Given the description of an element on the screen output the (x, y) to click on. 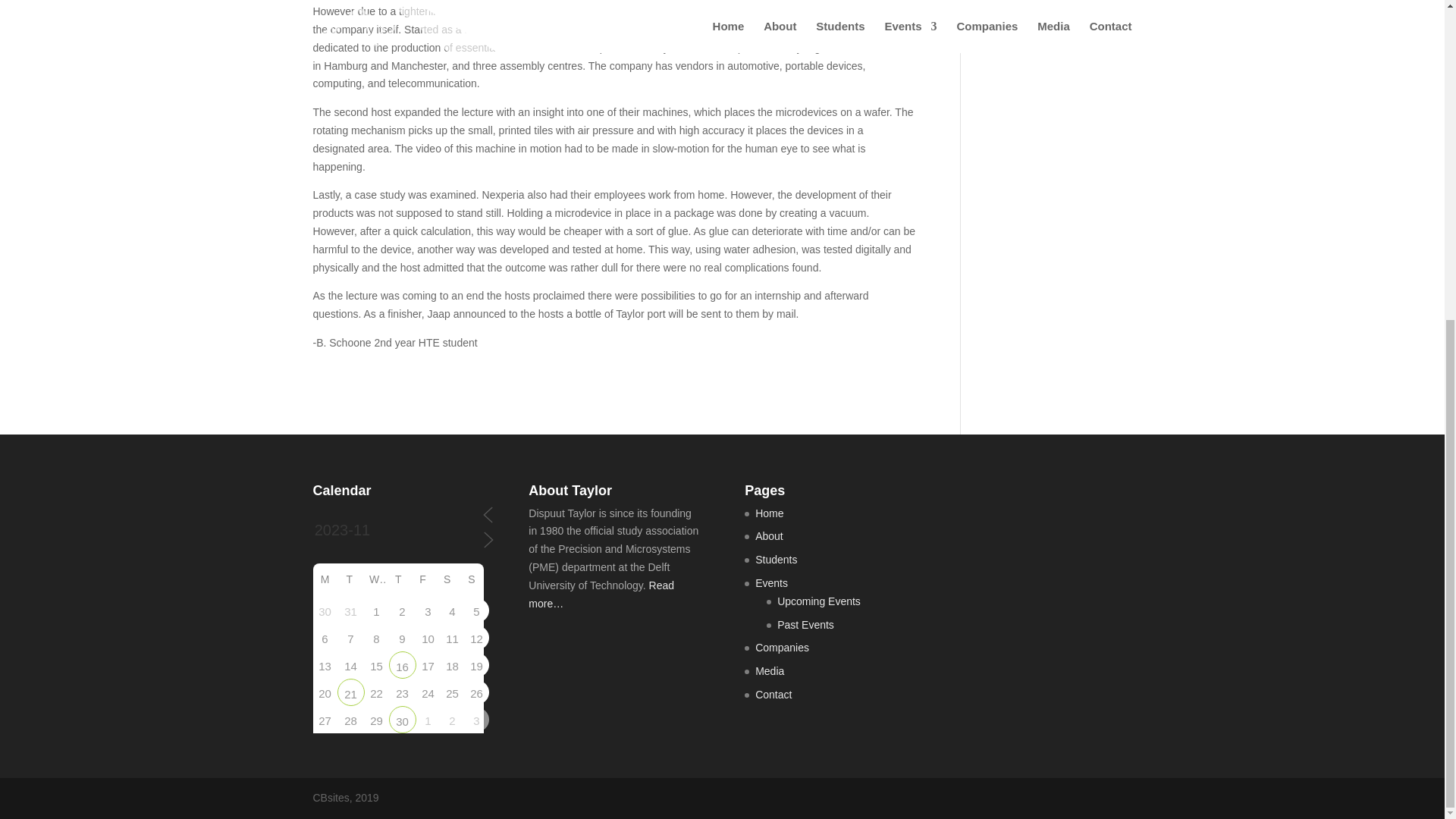
Precision Fair 16 November (401, 664)
PM Company Visit (401, 719)
Lunch lecture Hittech (349, 692)
2023-11 (396, 529)
